Given the description of an element on the screen output the (x, y) to click on. 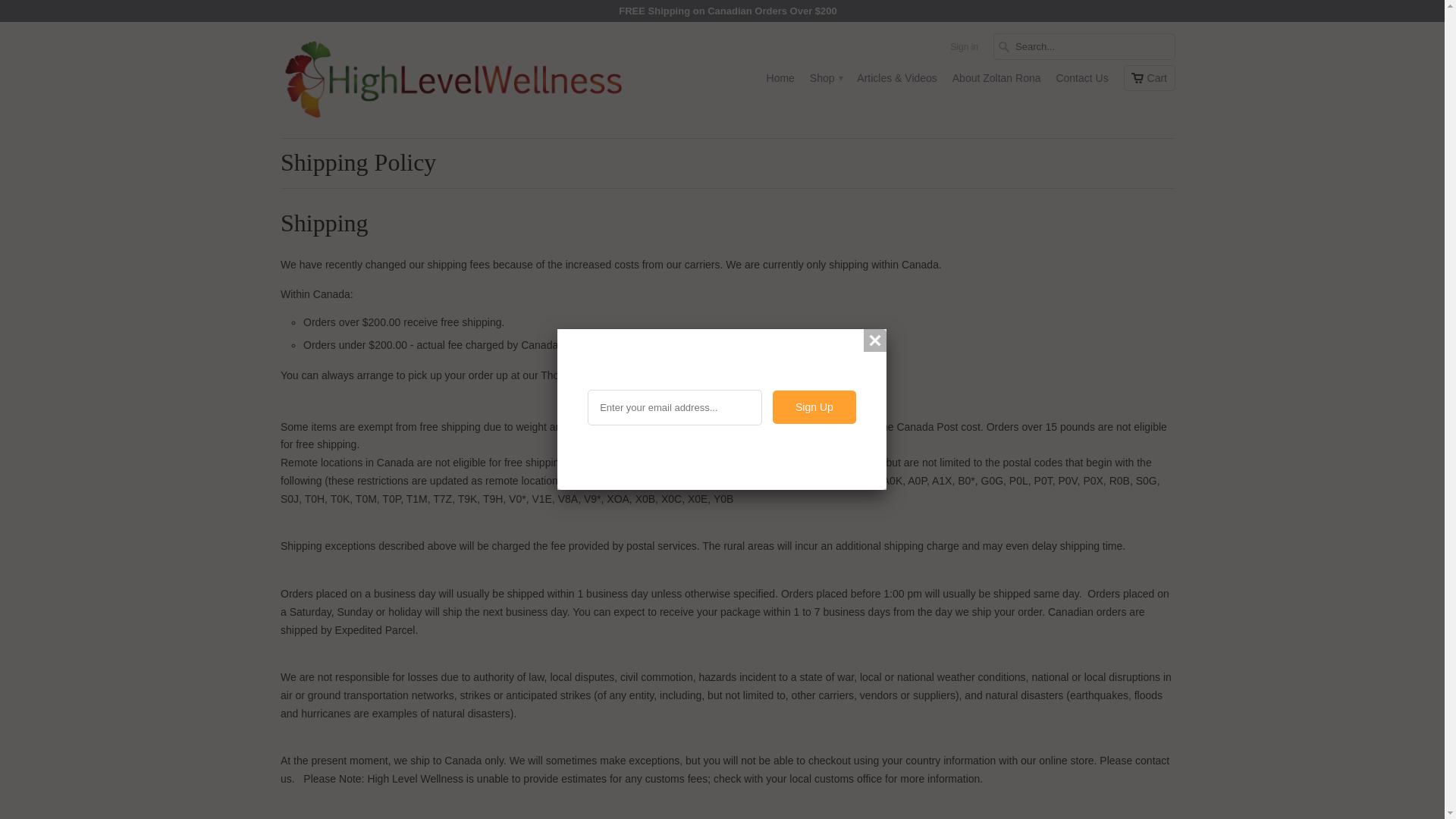
Sign in (964, 50)
Sign Up (814, 407)
High Level Wellness (451, 79)
Home (780, 81)
Cart (1149, 77)
